Given the description of an element on the screen output the (x, y) to click on. 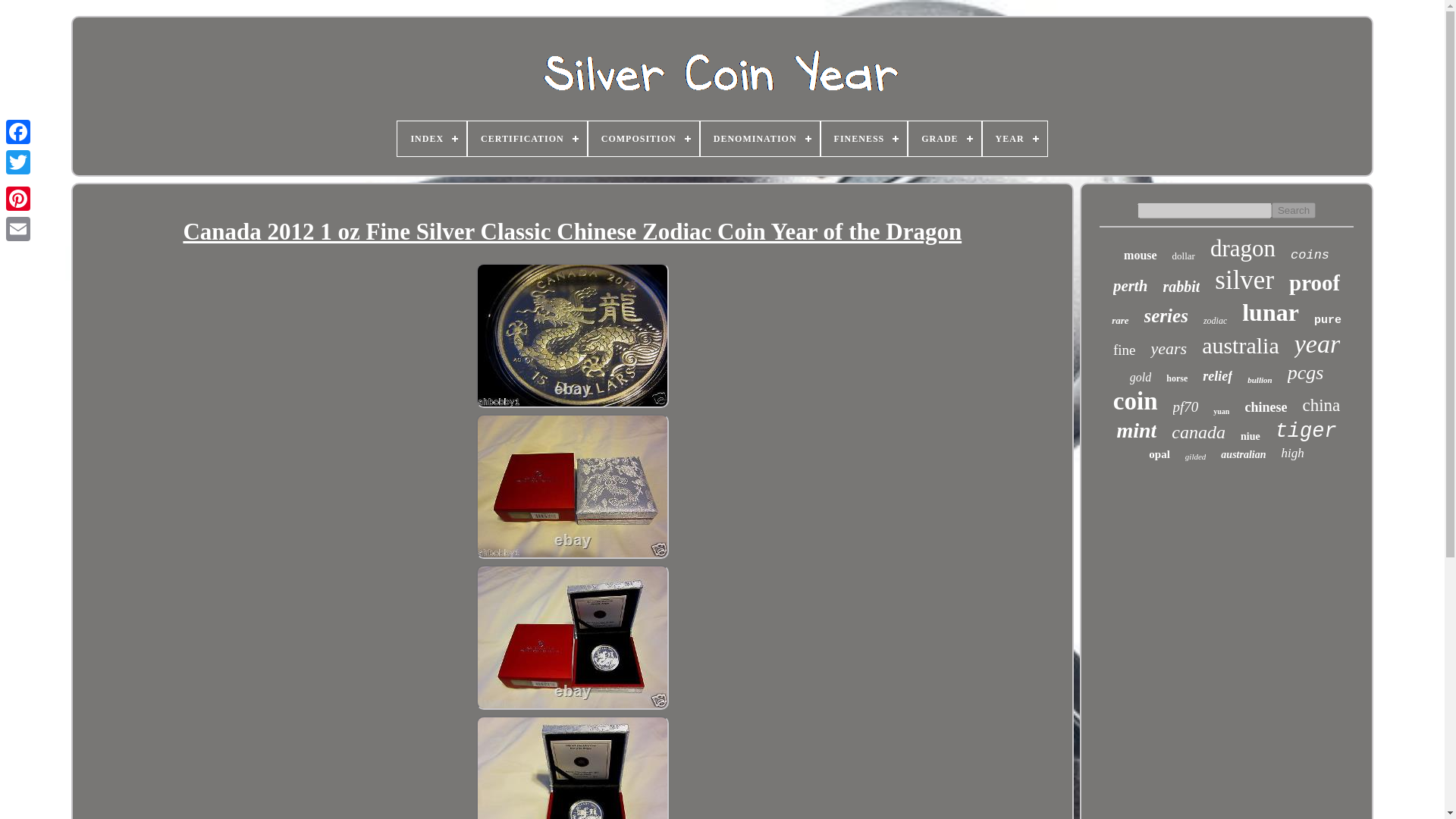
COMPOSITION (643, 138)
CERTIFICATION (526, 138)
INDEX (431, 138)
Search (1293, 210)
DENOMINATION (759, 138)
